Given the description of an element on the screen output the (x, y) to click on. 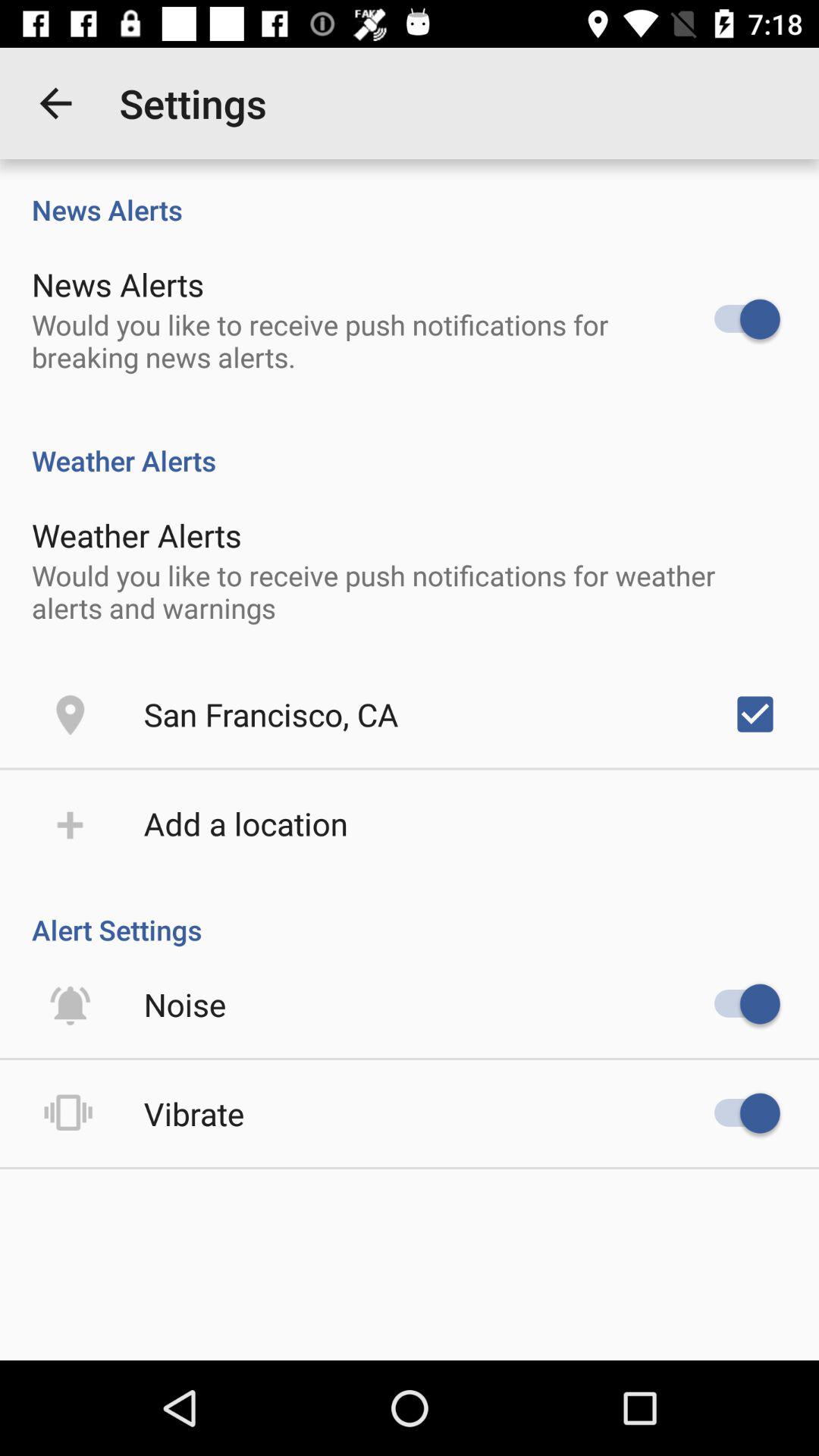
click the app next to the settings  item (55, 103)
